Given the description of an element on the screen output the (x, y) to click on. 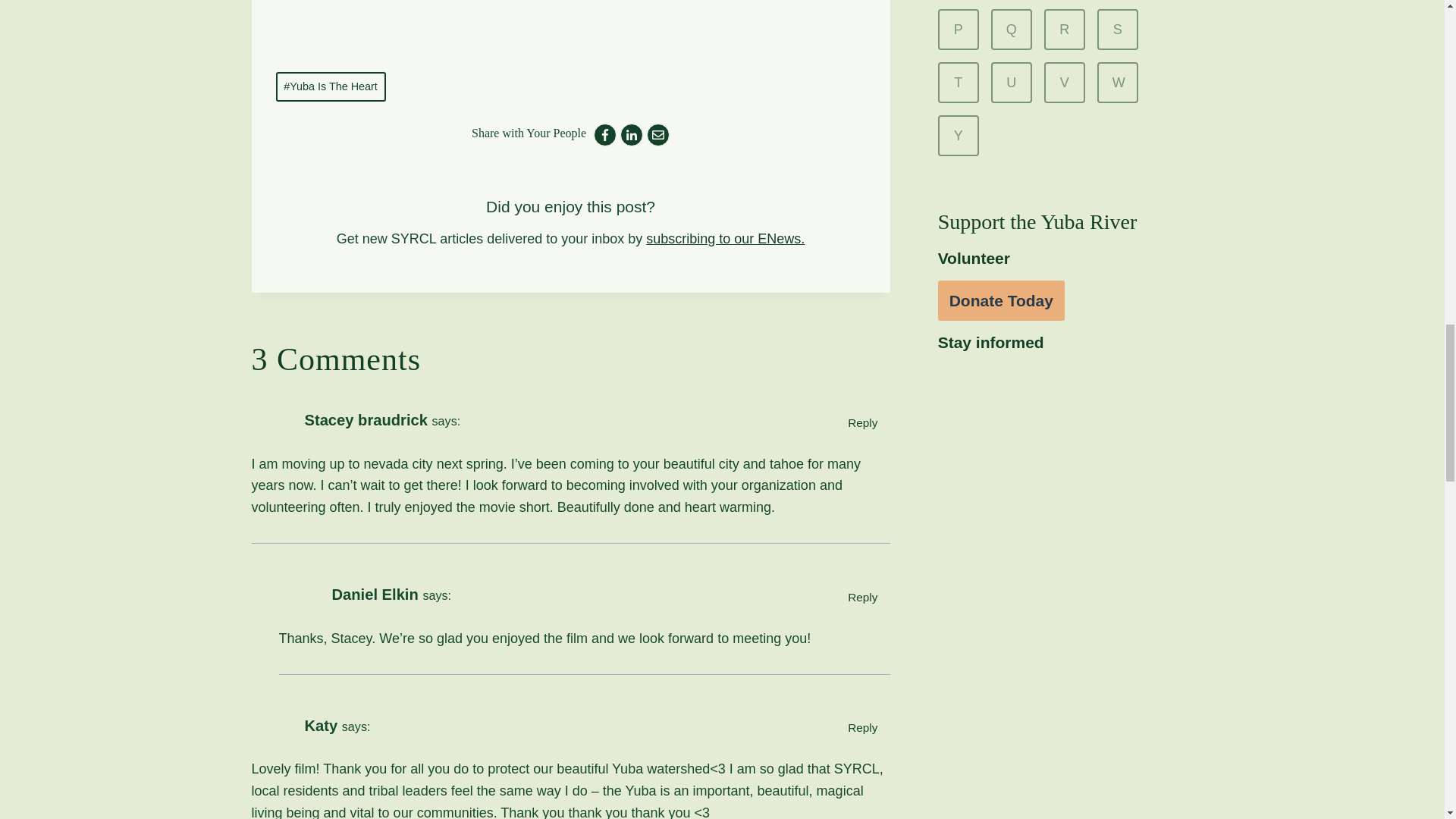
Reply (862, 422)
Yuba Is The Heart (330, 86)
Yuba is the Heart (571, 26)
subscribing to our ENews. (725, 238)
